Given the description of an element on the screen output the (x, y) to click on. 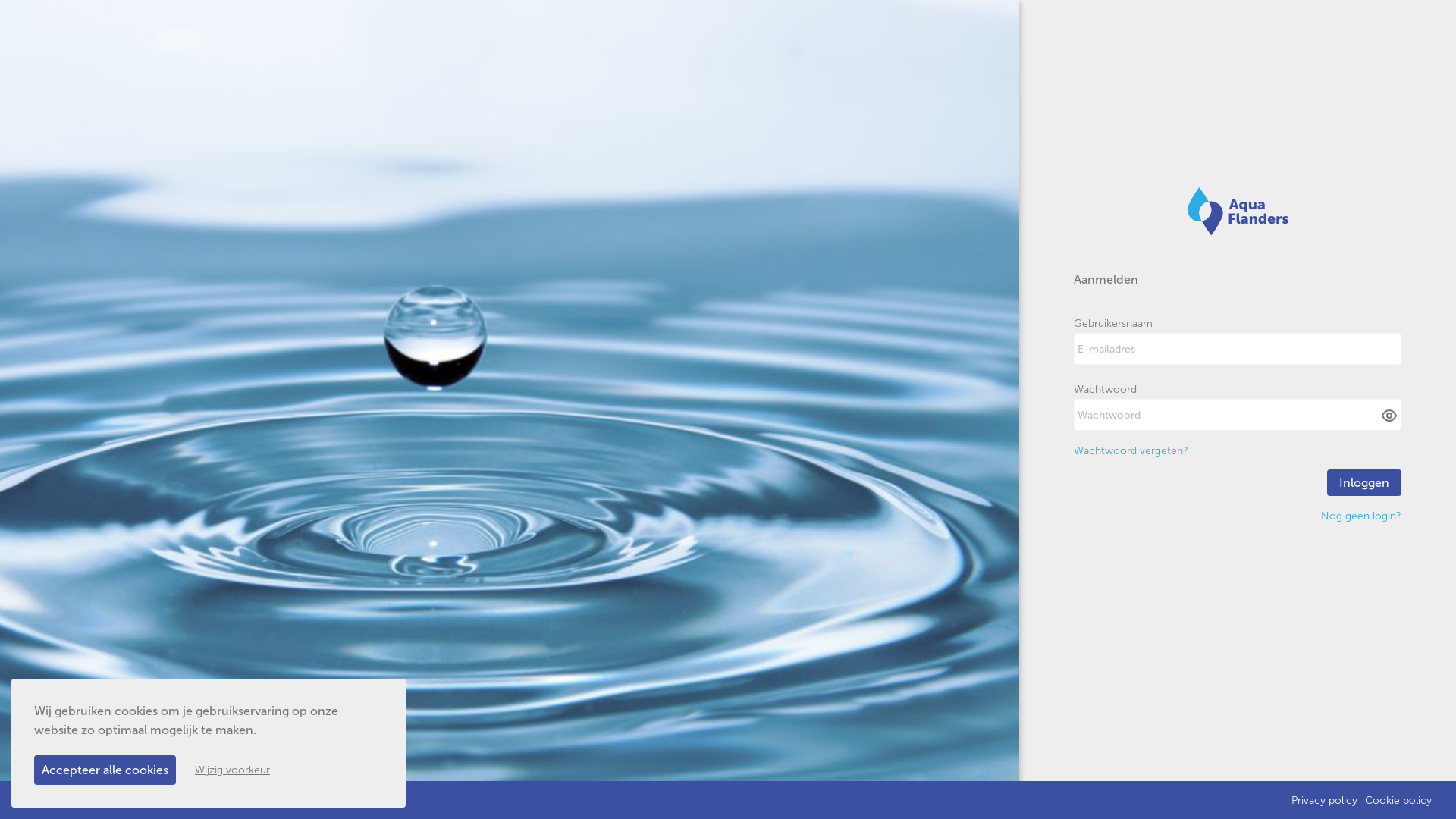
Inloggen Element type: text (1364, 482)
Privacy policy Element type: text (1324, 799)
Accepteer alle cookies Element type: text (104, 769)
Wachtwoord vergeten? Element type: text (1130, 450)
Nog geen login? Element type: text (1361, 515)
Cookie policy Element type: text (1398, 799)
Wijzig voorkeur Element type: text (231, 770)
